Given the description of an element on the screen output the (x, y) to click on. 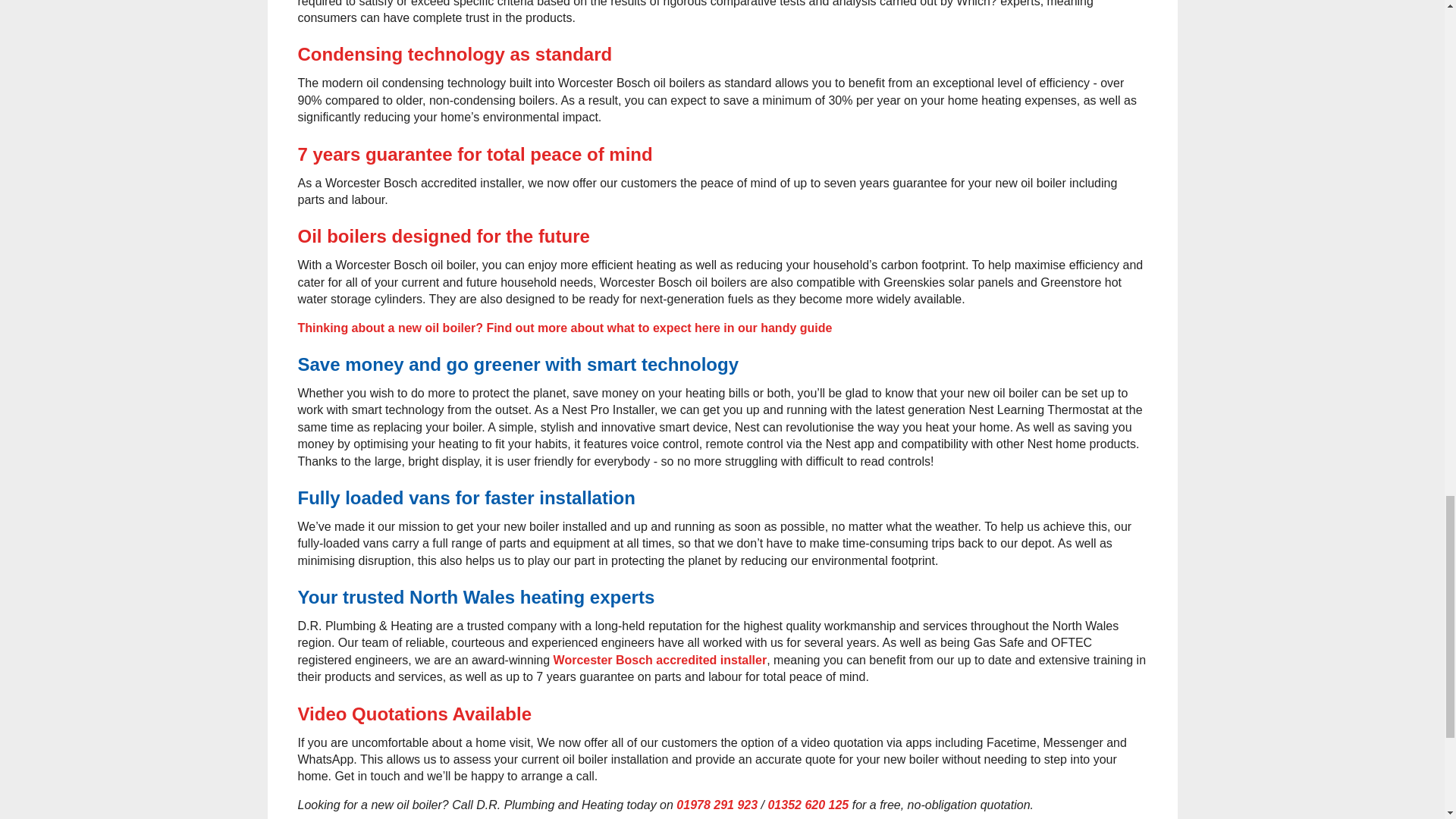
01352 620 125 (807, 804)
Worcester Bosch accredited installer (660, 659)
01978 291 923 (717, 804)
